Given the description of an element on the screen output the (x, y) to click on. 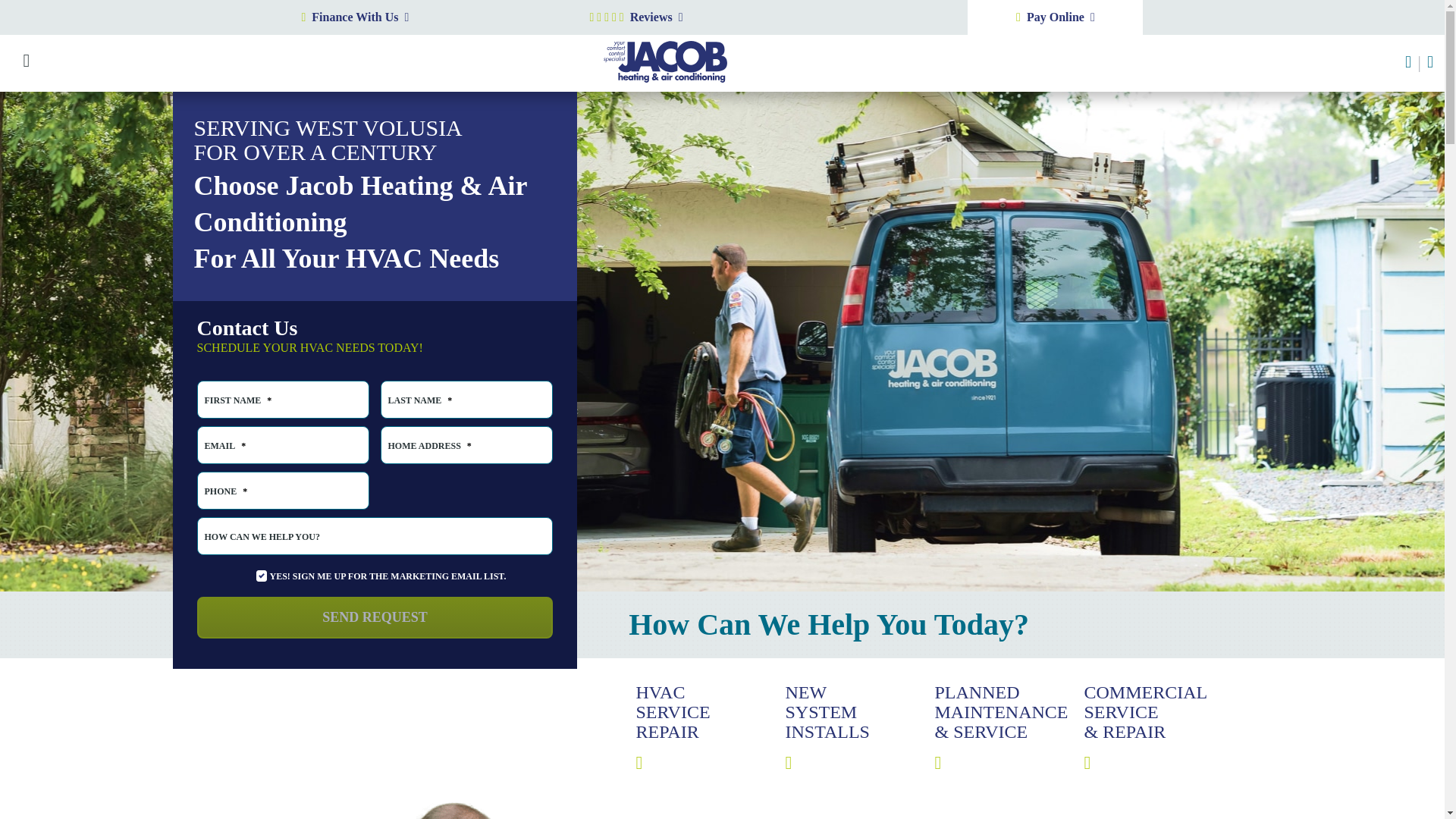
Finance With Us (434, 17)
Pay Online (1055, 17)
Yes! Sign me up for the marketing email list. (261, 575)
Reviews (656, 17)
